Given the description of an element on the screen output the (x, y) to click on. 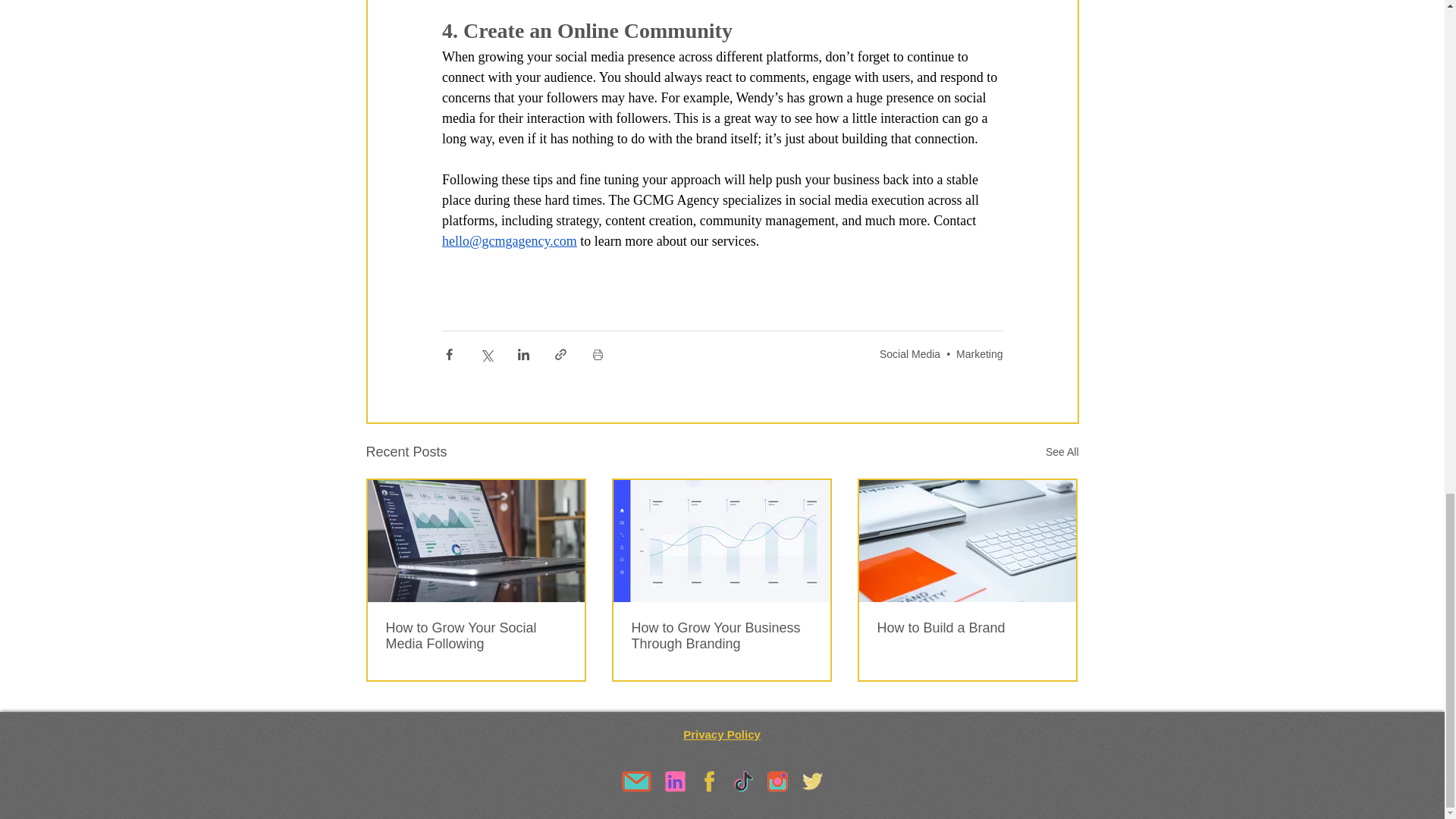
How to Build a Brand (966, 627)
Social Media (909, 353)
Privacy Policy (721, 734)
Marketing (979, 353)
See All (1061, 452)
How to Grow Your Social Media Following (475, 635)
How to Grow Your Business Through Branding (720, 635)
